Given the description of an element on the screen output the (x, y) to click on. 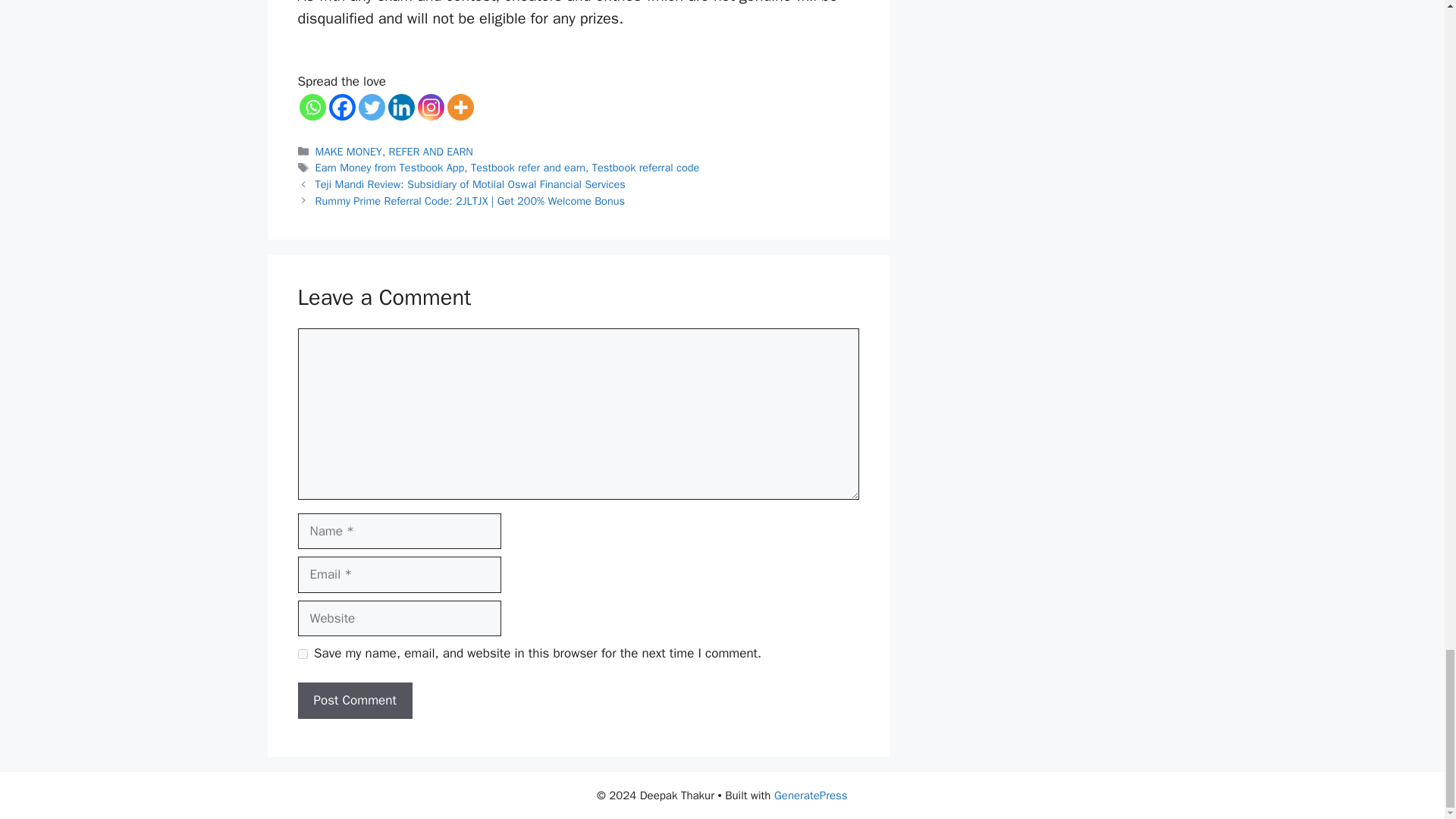
yes (302, 654)
Whatsapp (311, 107)
Post Comment (354, 700)
